Given the description of an element on the screen output the (x, y) to click on. 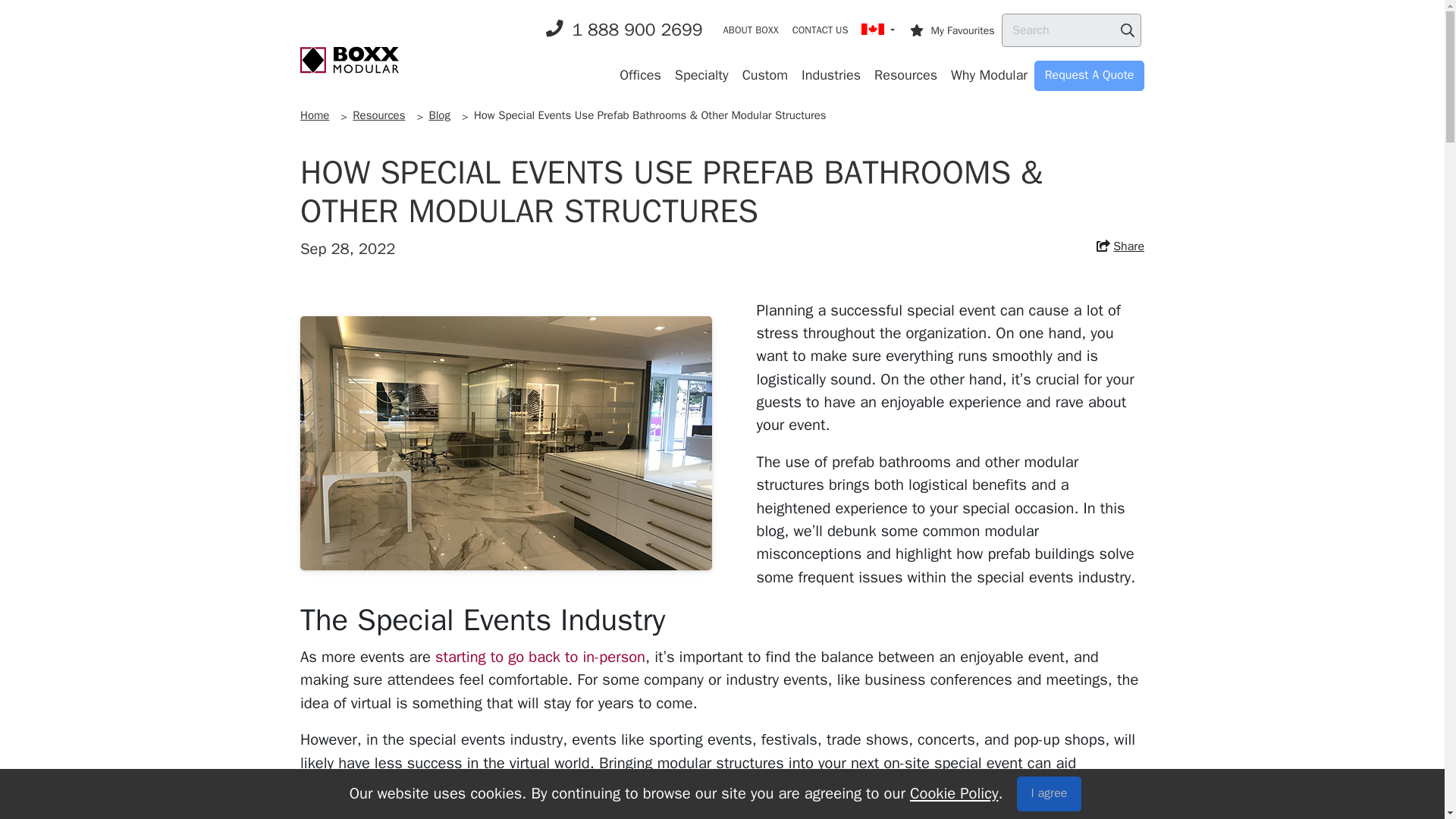
ABOUT BOXX (751, 30)
Contact US (821, 30)
My Favourites (953, 30)
1 888 900 2699 (624, 30)
About BOXX (751, 30)
Offices (640, 75)
I agree (1048, 793)
Offices (640, 75)
1 888 900 2699 (624, 30)
Home (348, 59)
